Given the description of an element on the screen output the (x, y) to click on. 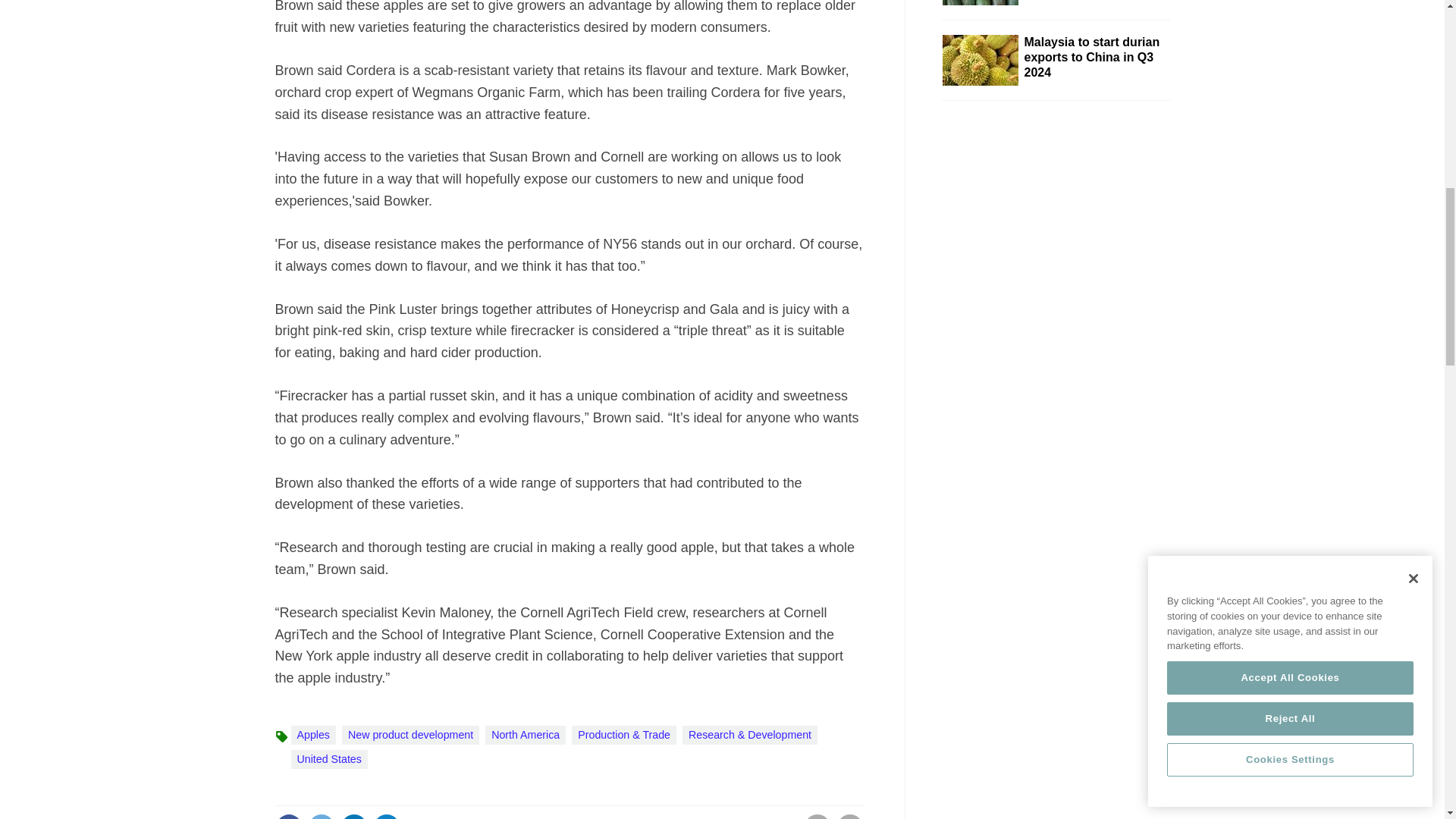
Share this on Facebook (288, 816)
Share this on Linked in (352, 816)
Email this article (386, 816)
Share this on Twitter (320, 816)
